Given the description of an element on the screen output the (x, y) to click on. 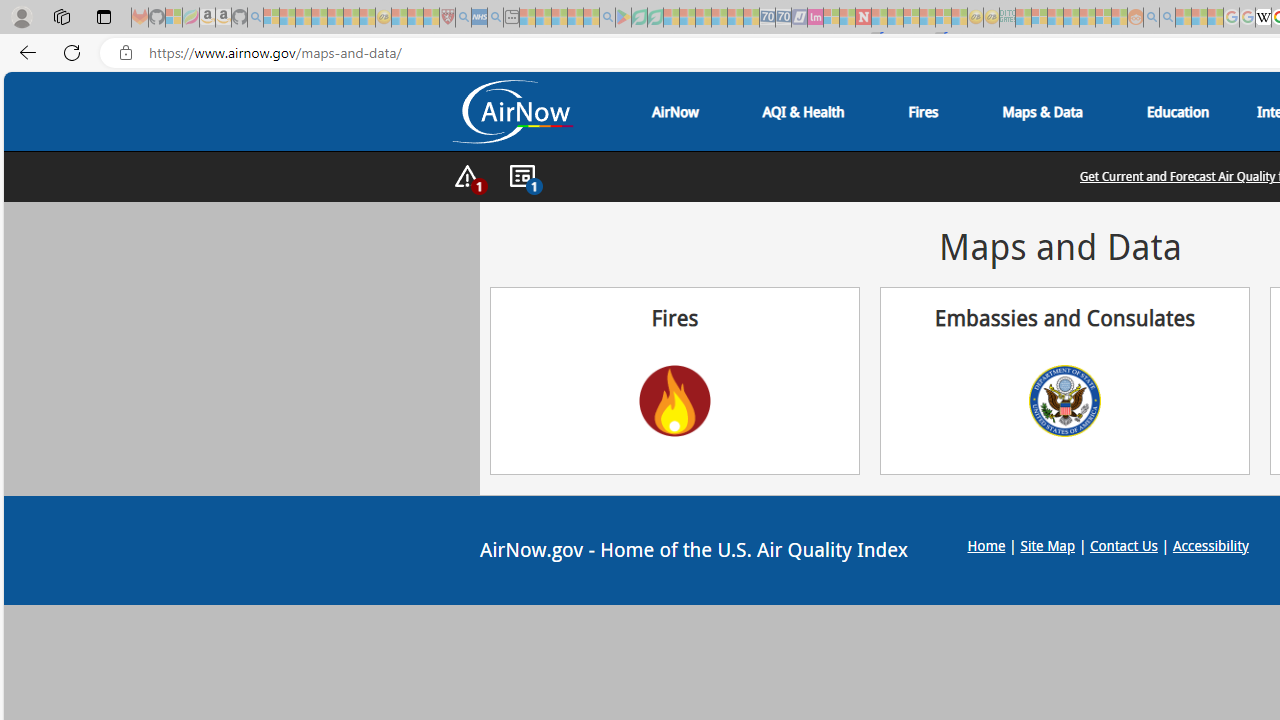
Class: main-link dropbtn-nav-link (1178, 111)
Accessibility (1210, 544)
